Given the description of an element on the screen output the (x, y) to click on. 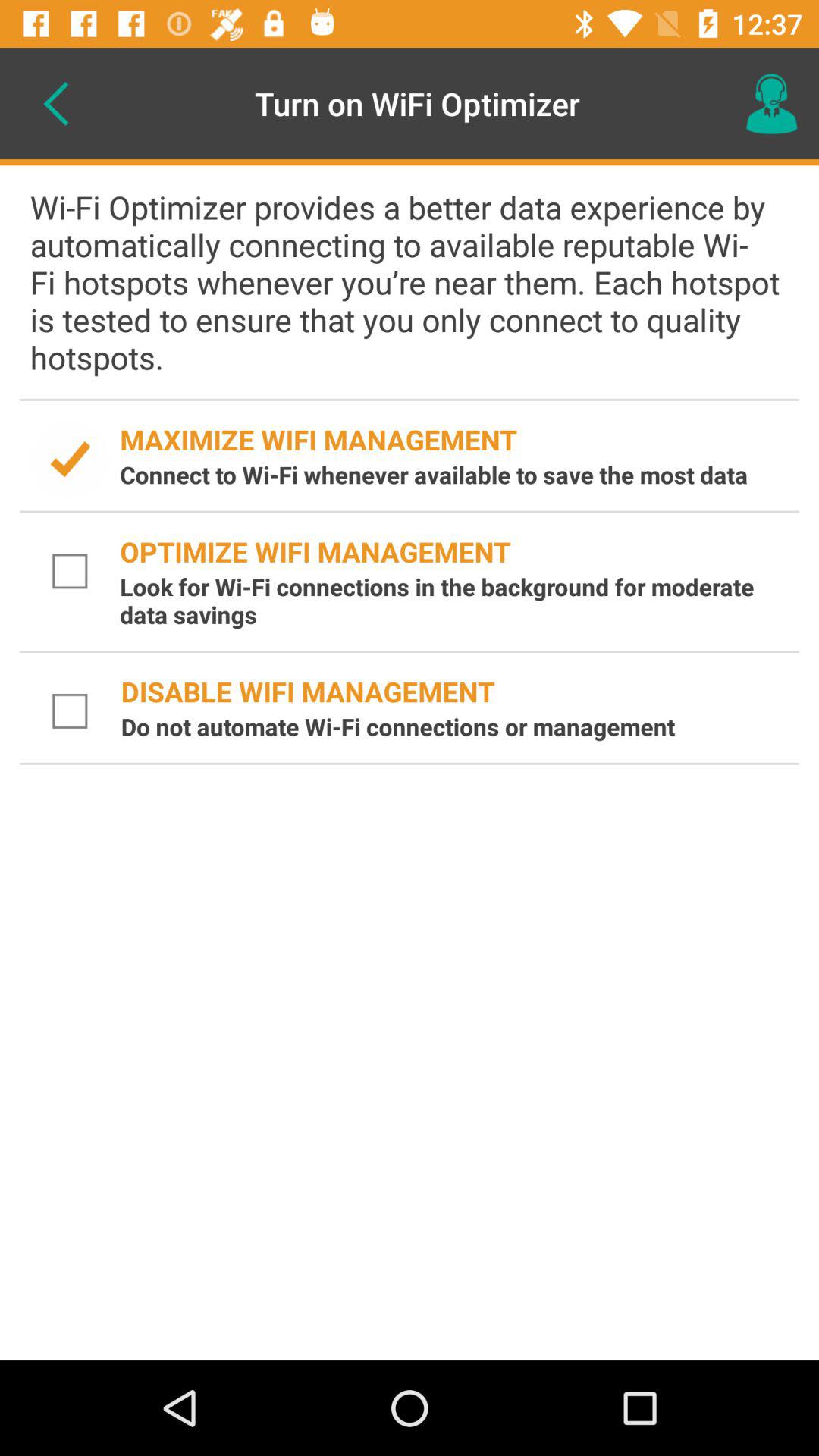
turn on the icon to the left of the maximize wifi management (69, 459)
